Given the description of an element on the screen output the (x, y) to click on. 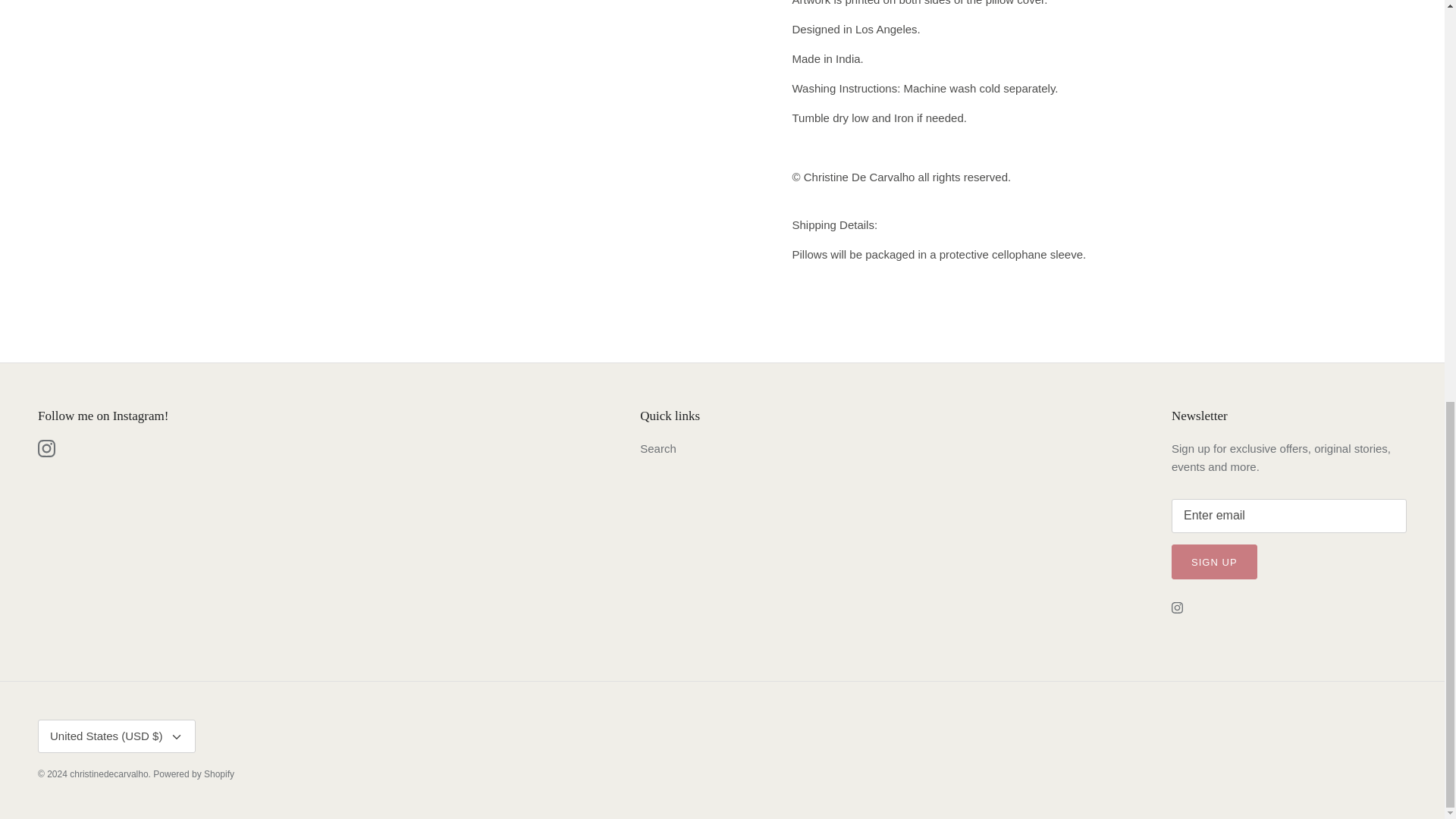
Instagram (1177, 607)
Instagram (46, 448)
Down (176, 736)
